Given the description of an element on the screen output the (x, y) to click on. 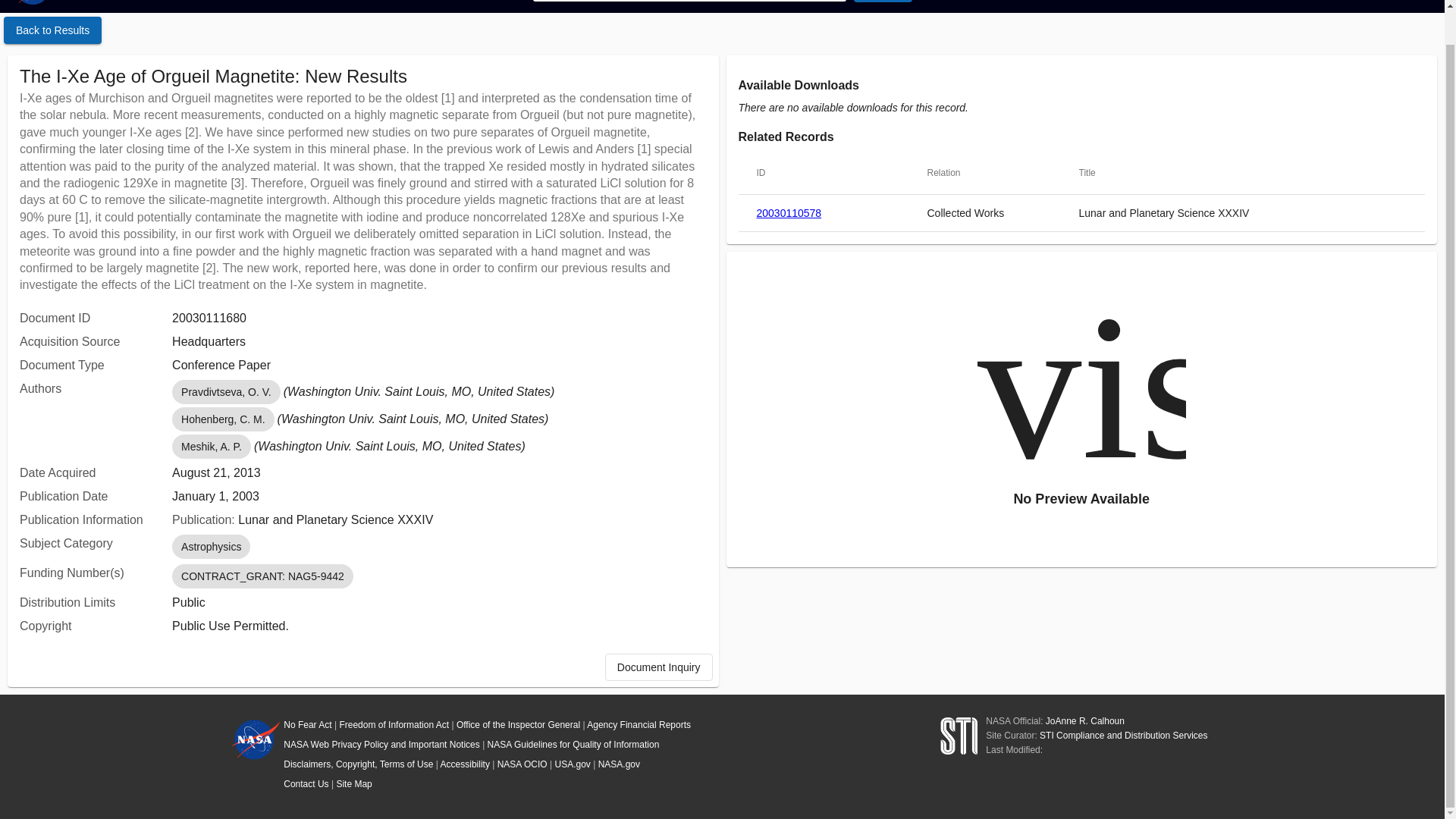
Help (1357, 1)
20030110578 (789, 212)
Search (882, 1)
NASA.gov (619, 764)
Document Inquiry (659, 666)
NASA OCIO (522, 764)
USA.gov (572, 764)
No Fear Act (307, 724)
News (1307, 1)
Freedom of Information Act (393, 724)
Agency Financial Reports (638, 724)
Login (1406, 1)
NASA Web Privacy Policy and Important Notices (381, 744)
Disclaimers, Copyright, Terms of Use (357, 764)
STI Compliance and Distribution Services (1123, 735)
